Given the description of an element on the screen output the (x, y) to click on. 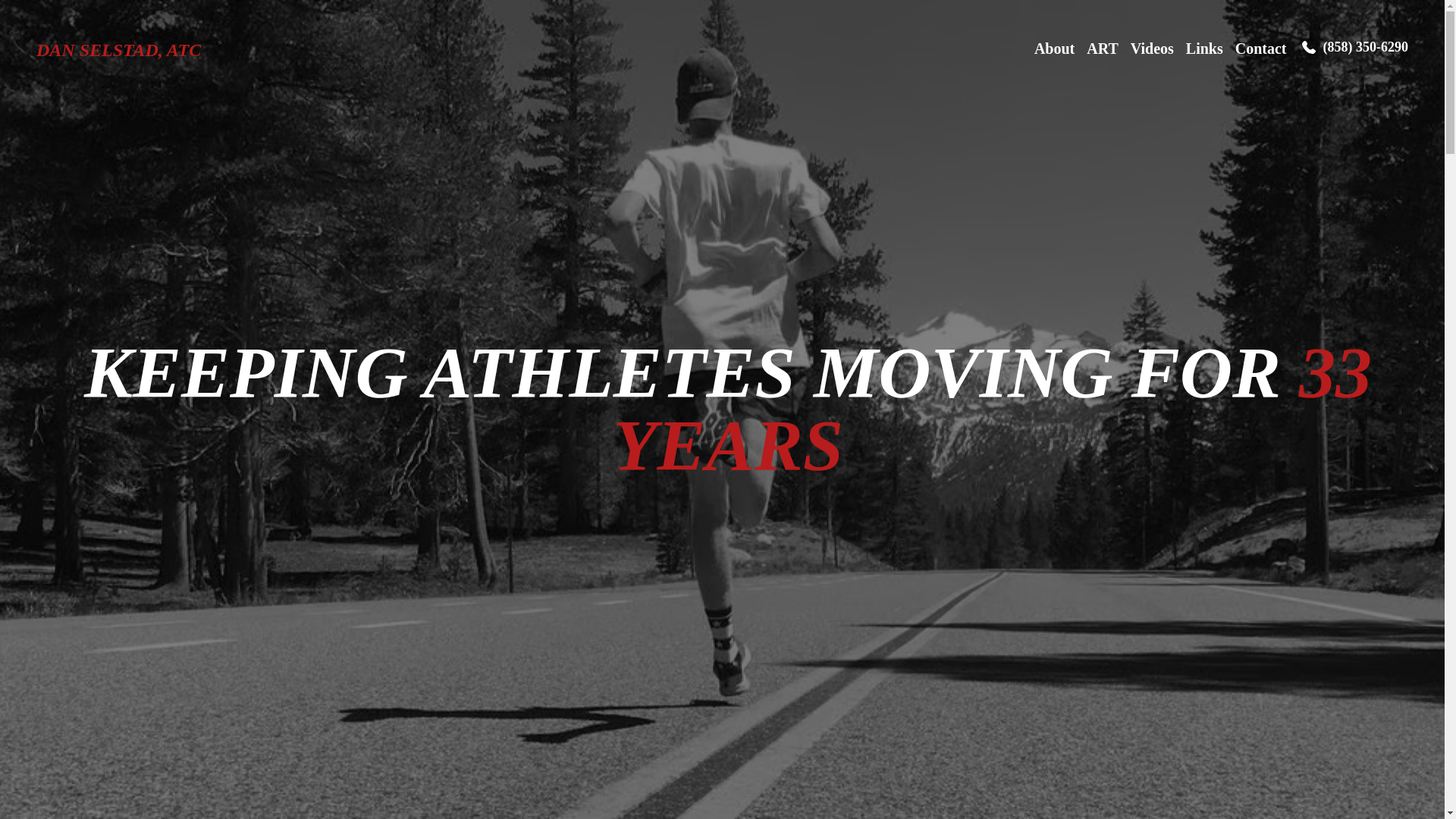
Links (1204, 49)
Videos (1152, 49)
ART (1102, 49)
Contact (1260, 49)
About (1053, 49)
DAN SELSTAD, ATC (118, 49)
